Given the description of an element on the screen output the (x, y) to click on. 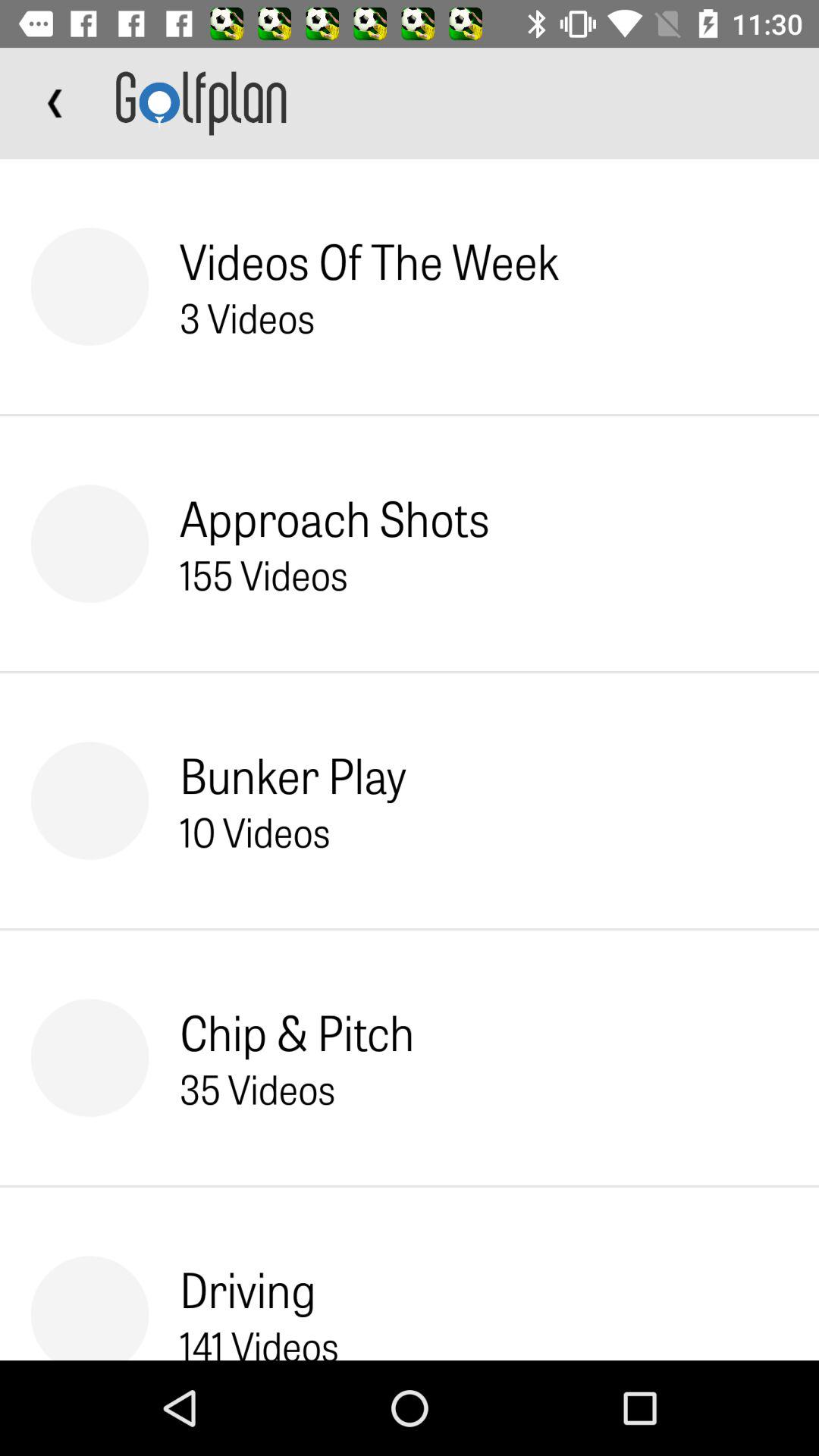
scroll until the videos of the icon (369, 260)
